Given the description of an element on the screen output the (x, y) to click on. 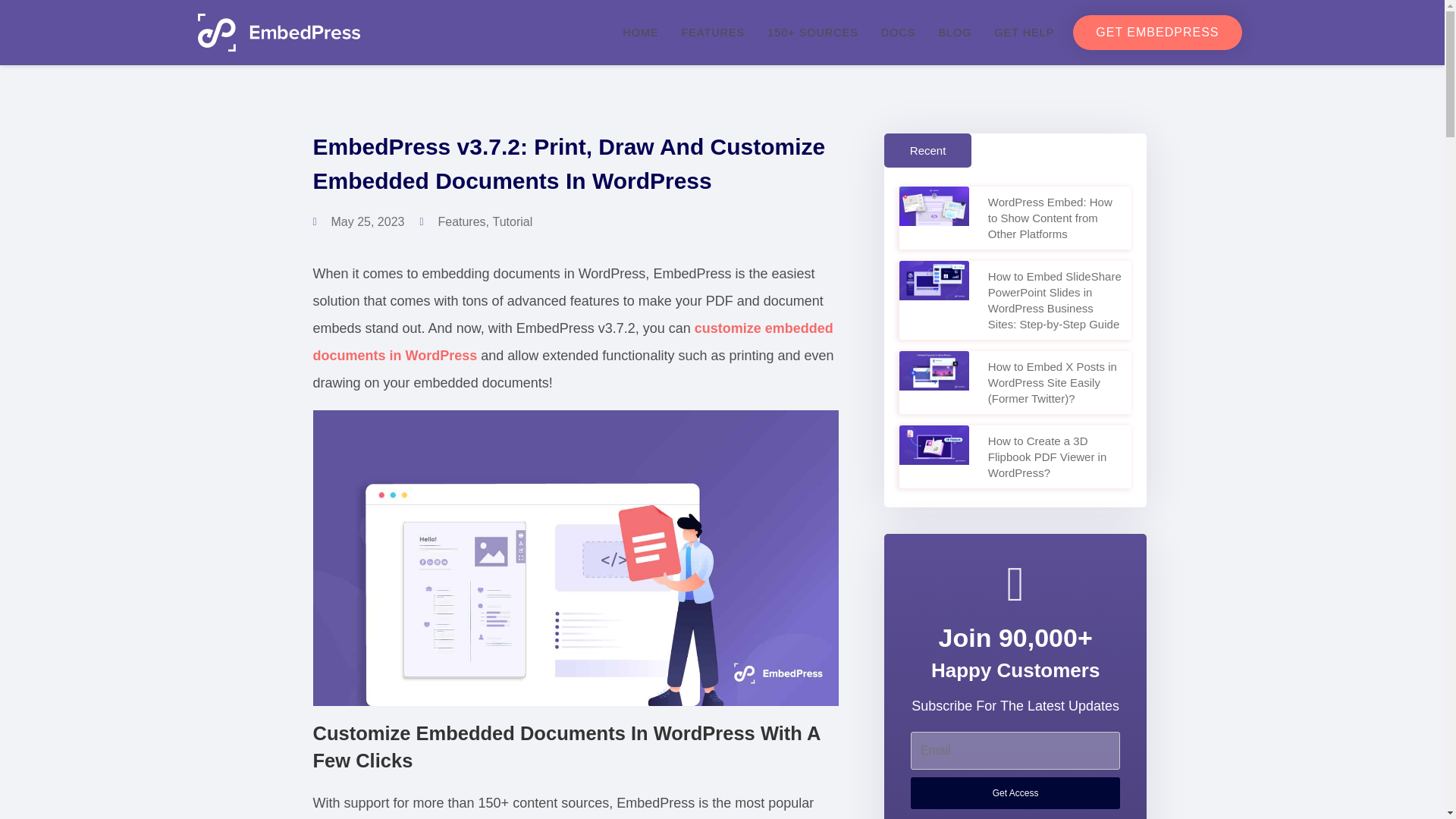
HOME (640, 32)
BLOG (954, 32)
GET HELP (1023, 32)
customize embedded documents in WordPress (572, 342)
May 25, 2023 (358, 222)
WordPress Embed: How to Show Content from Other Platforms (1050, 217)
Tutorial (512, 221)
GET EMBEDPRESS (1157, 32)
